Given the description of an element on the screen output the (x, y) to click on. 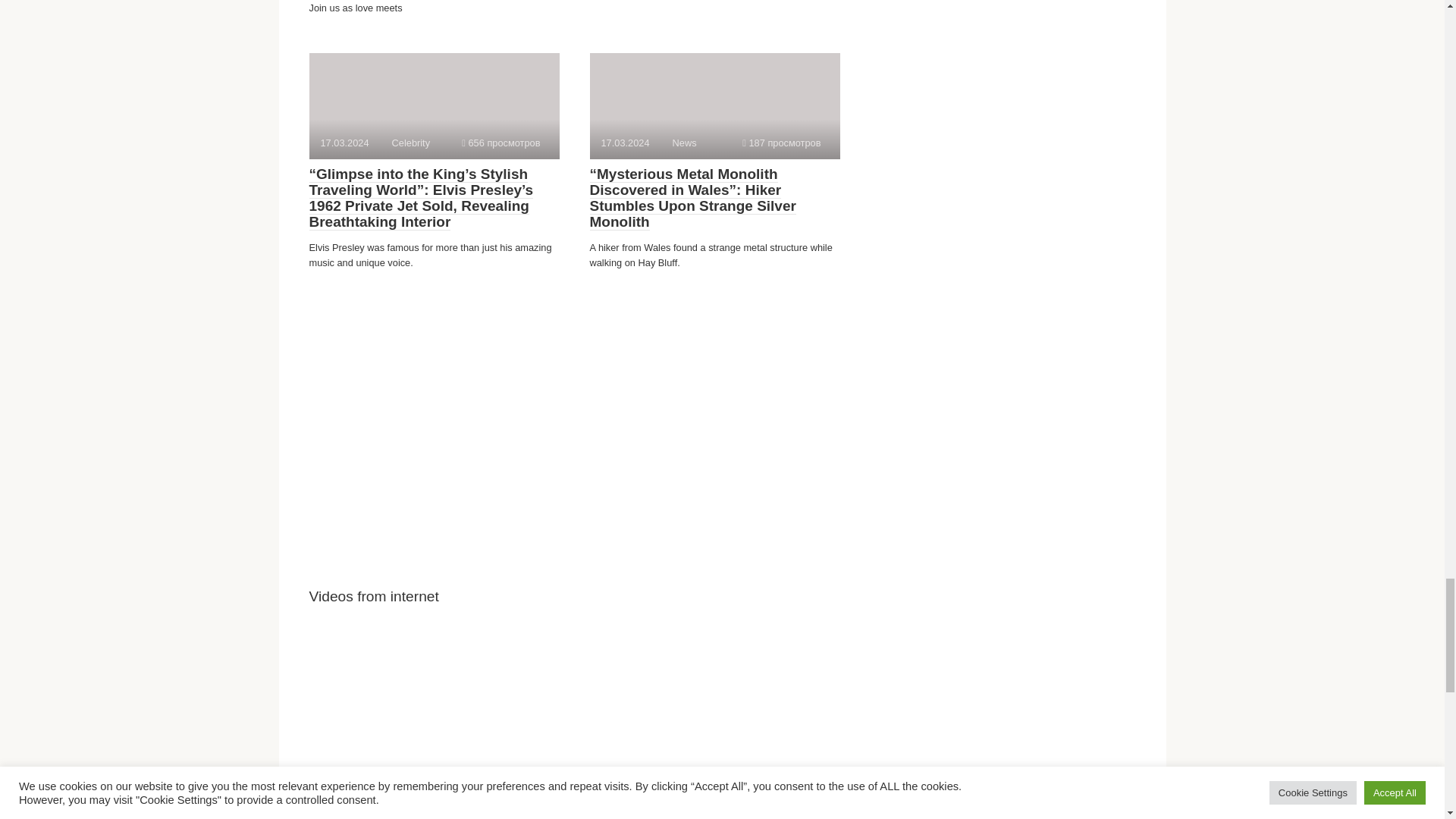
Views (500, 142)
Views (781, 142)
